Given the description of an element on the screen output the (x, y) to click on. 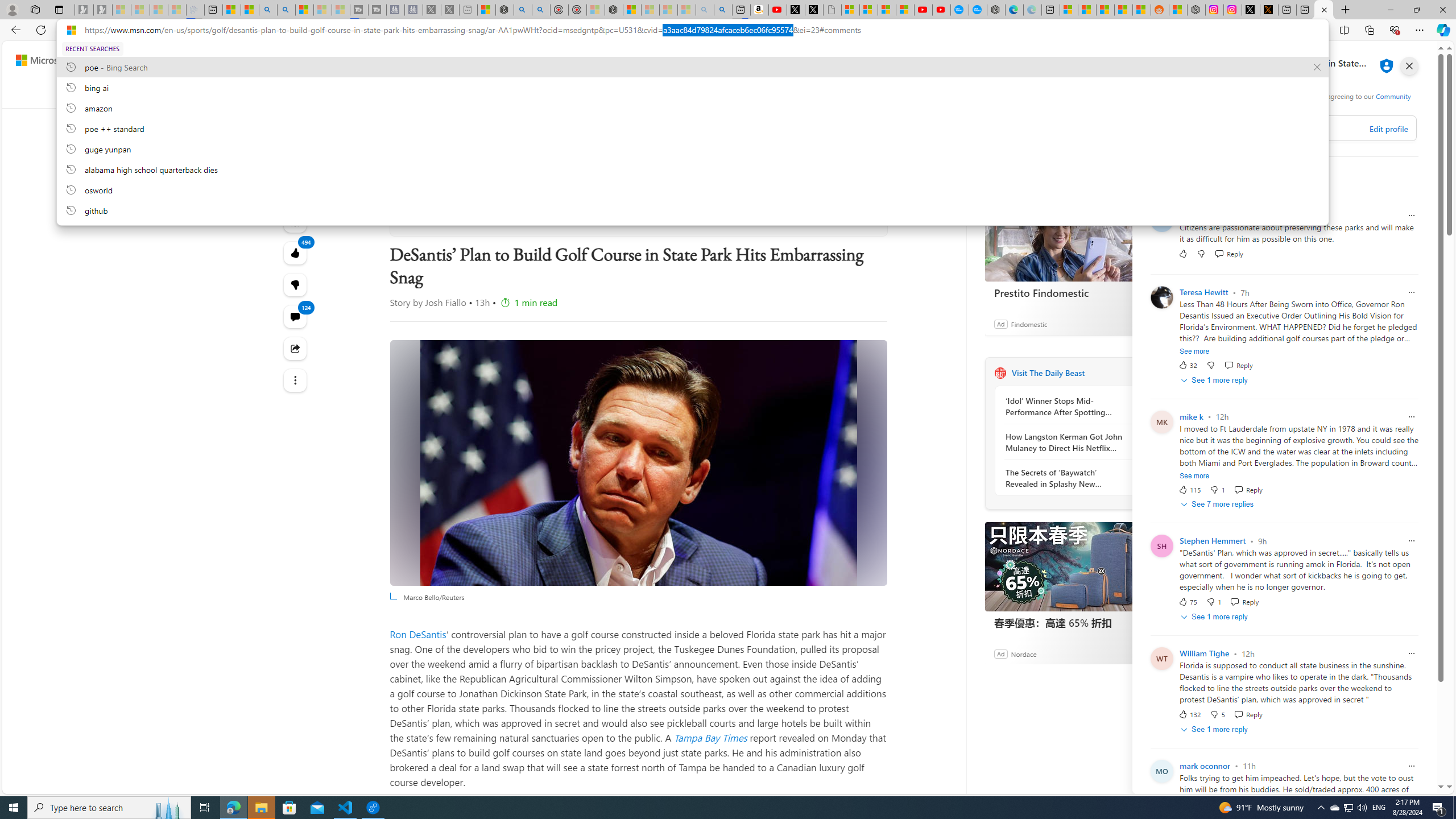
NCAA FB (794, 92)
Prestito Findomestic (1070, 236)
Enter your search term (726, 59)
Microsoft Start - Sleeping (322, 9)
More like this494Fewer like thisView comments (295, 284)
Ron DeSantis (418, 634)
Dislike (1217, 714)
NHL (521, 92)
Edit profile (1387, 128)
